Given the description of an element on the screen output the (x, y) to click on. 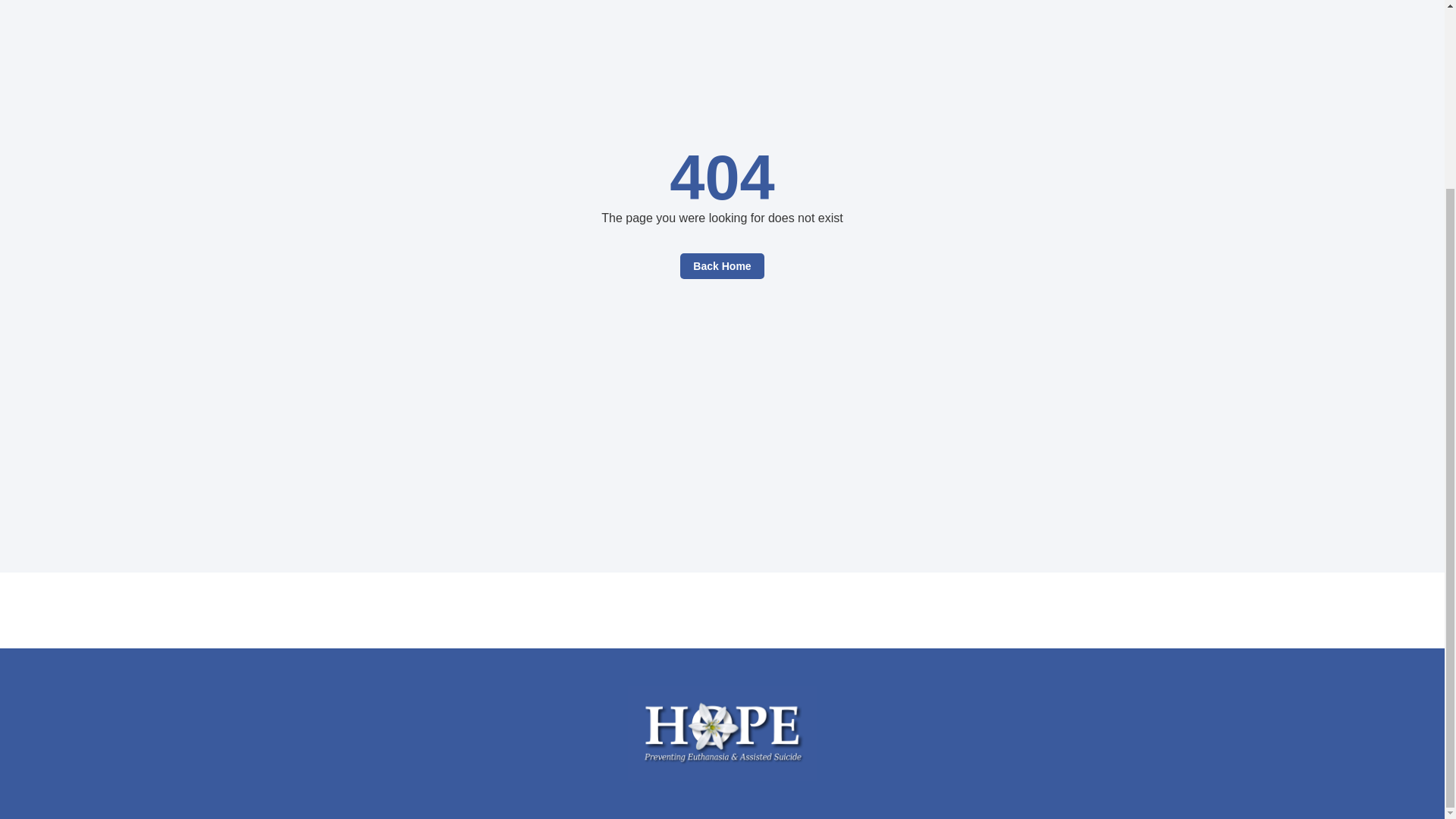
Back Home (720, 266)
